Given the description of an element on the screen output the (x, y) to click on. 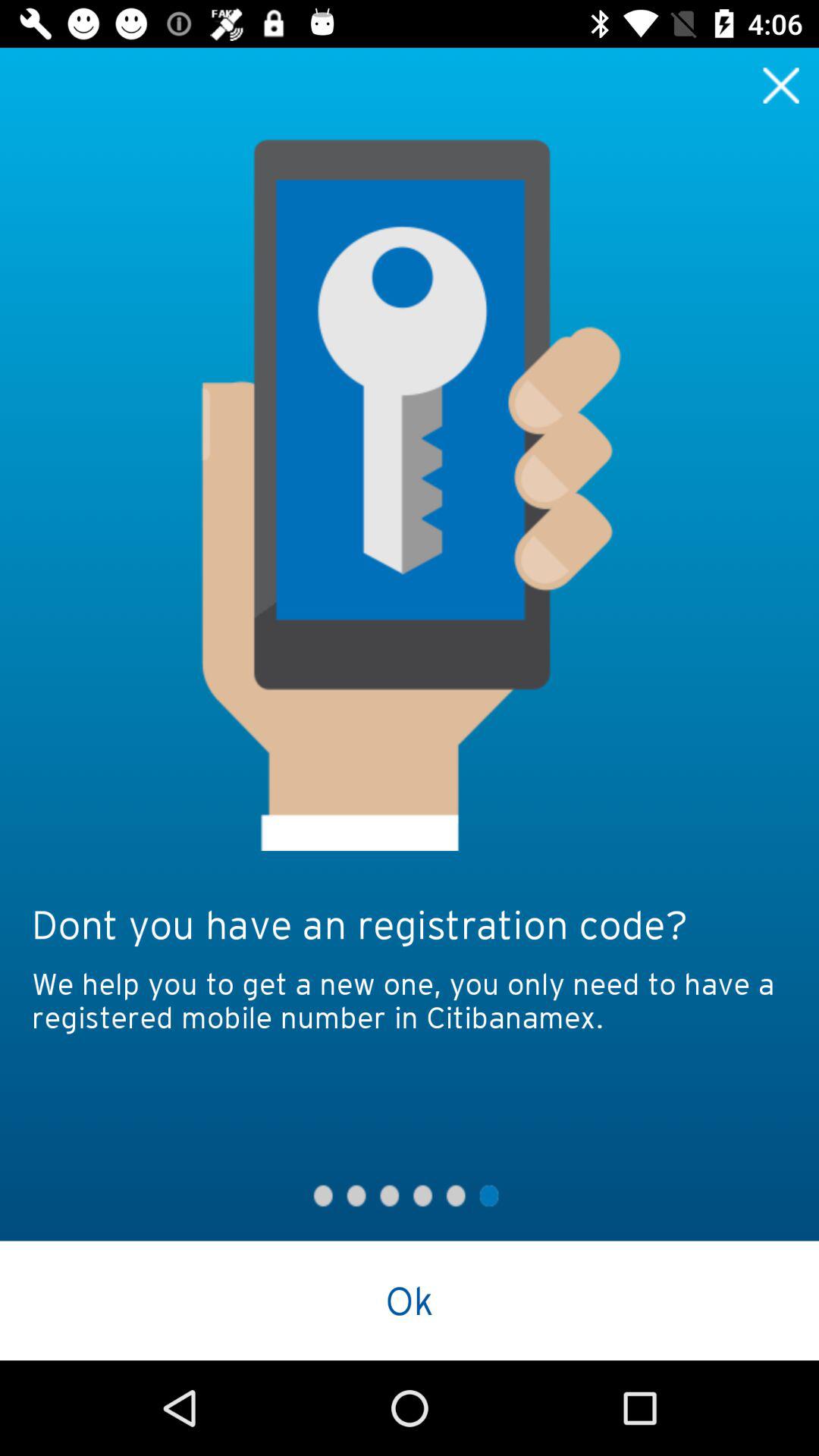
open the ok button (409, 1300)
